Given the description of an element on the screen output the (x, y) to click on. 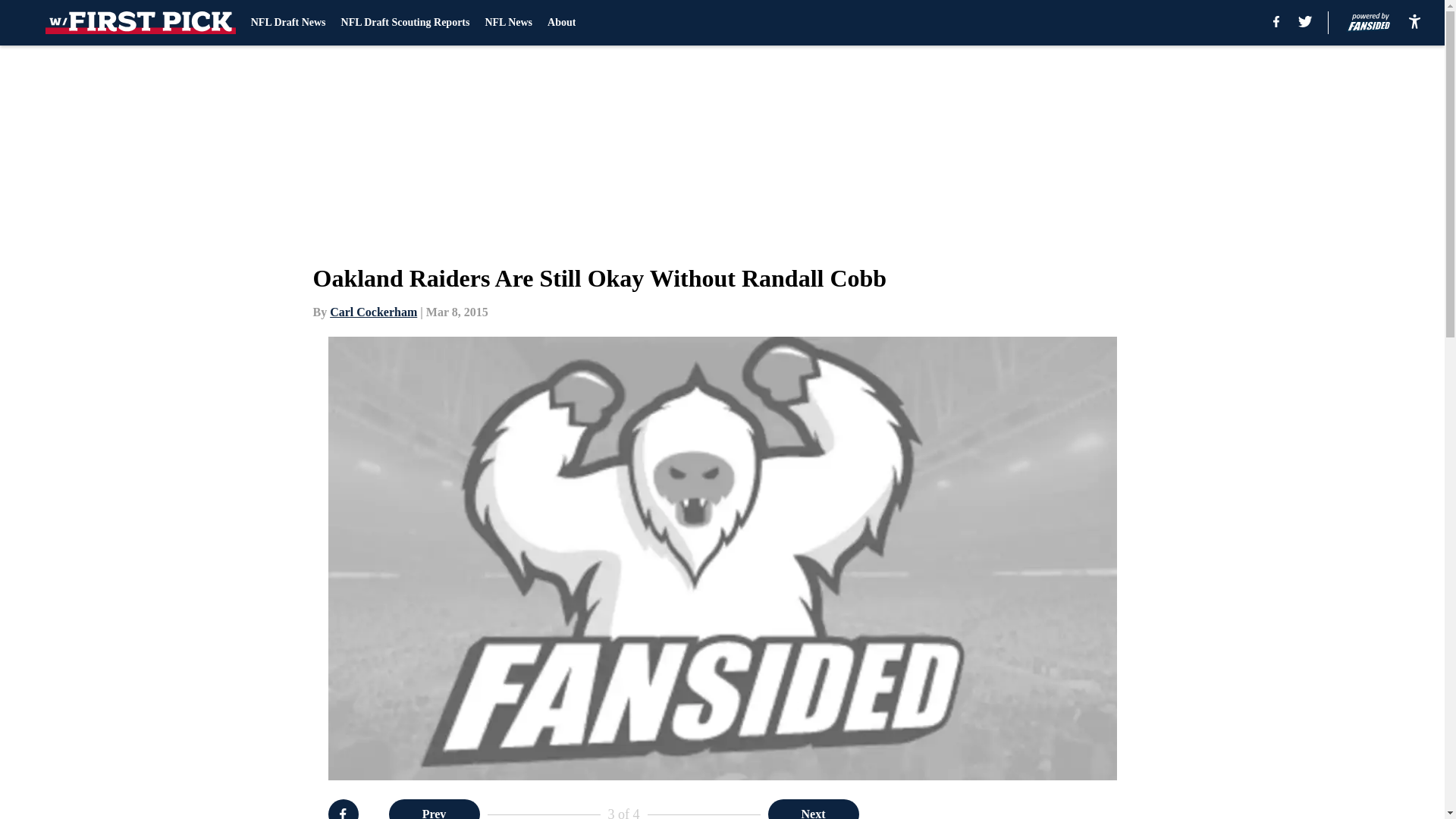
About (561, 22)
Next (813, 809)
Prev (433, 809)
NFL Draft Scouting Reports (405, 22)
NFL Draft News (288, 22)
NFL News (508, 22)
Carl Cockerham (373, 311)
